Given the description of an element on the screen output the (x, y) to click on. 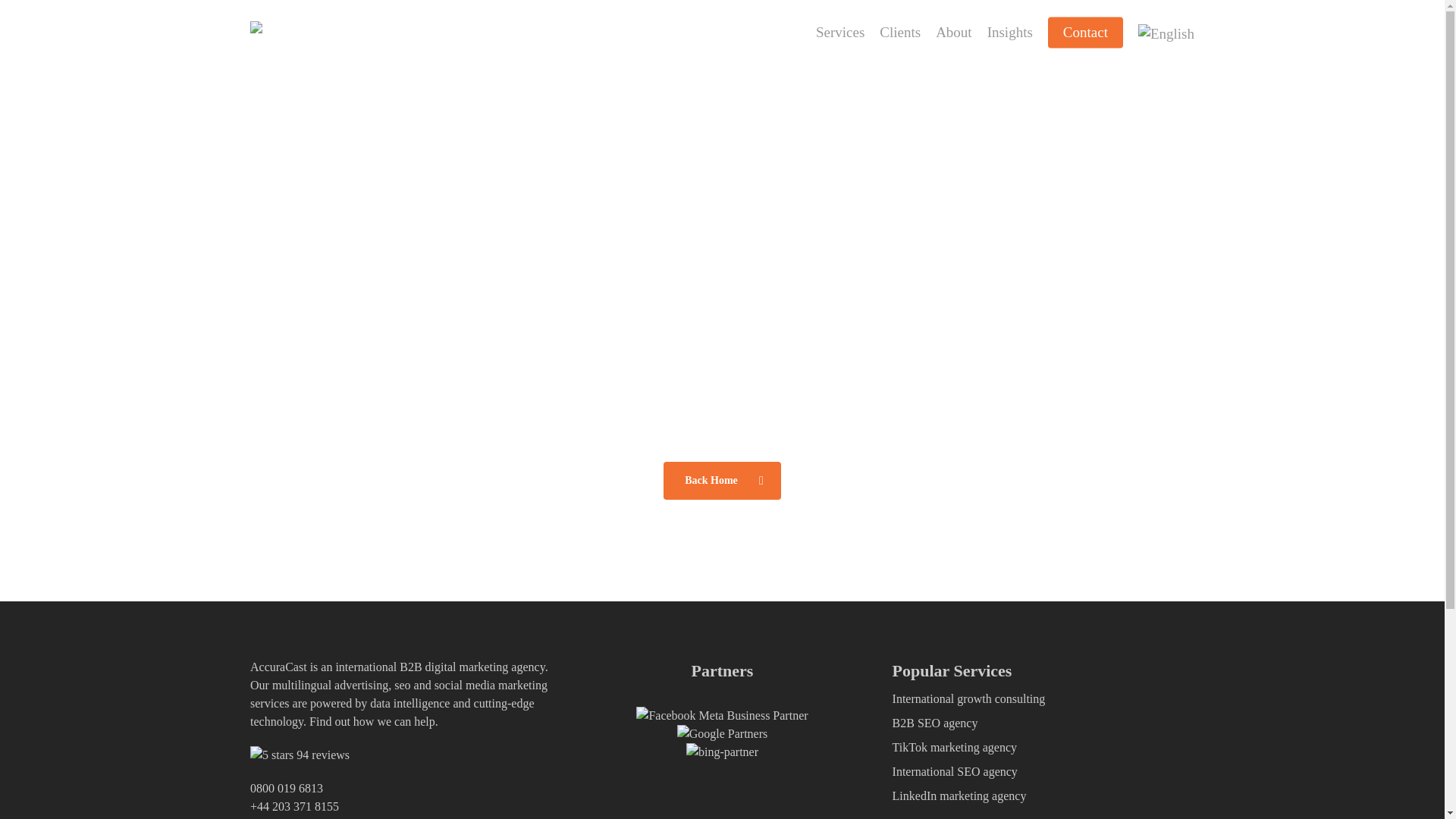
Services (839, 32)
About (954, 32)
Clients (899, 32)
